Given the description of an element on the screen output the (x, y) to click on. 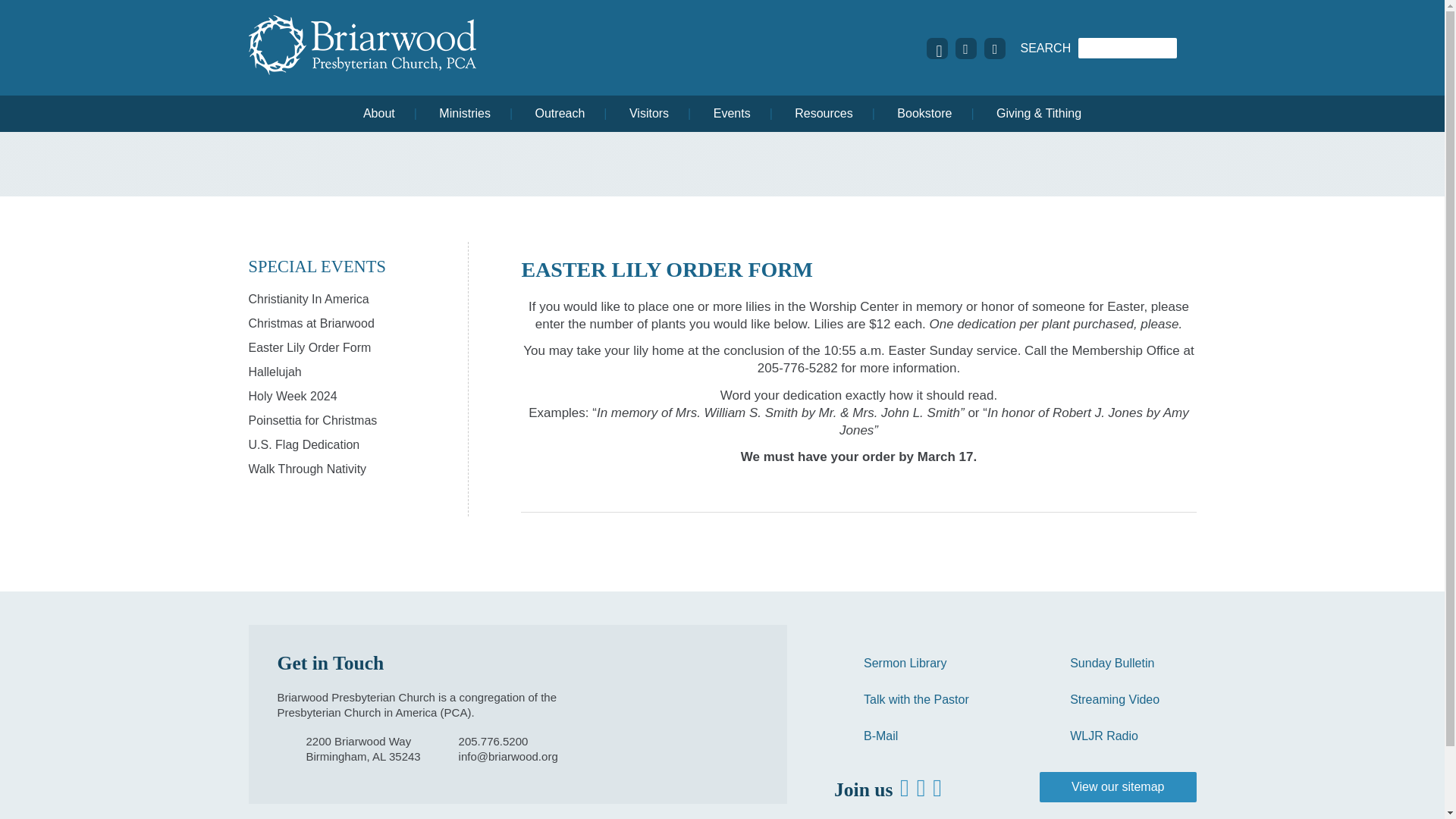
twitter (965, 48)
facebook (936, 48)
About (378, 113)
Ministries (464, 113)
instagram (995, 46)
